Given the description of an element on the screen output the (x, y) to click on. 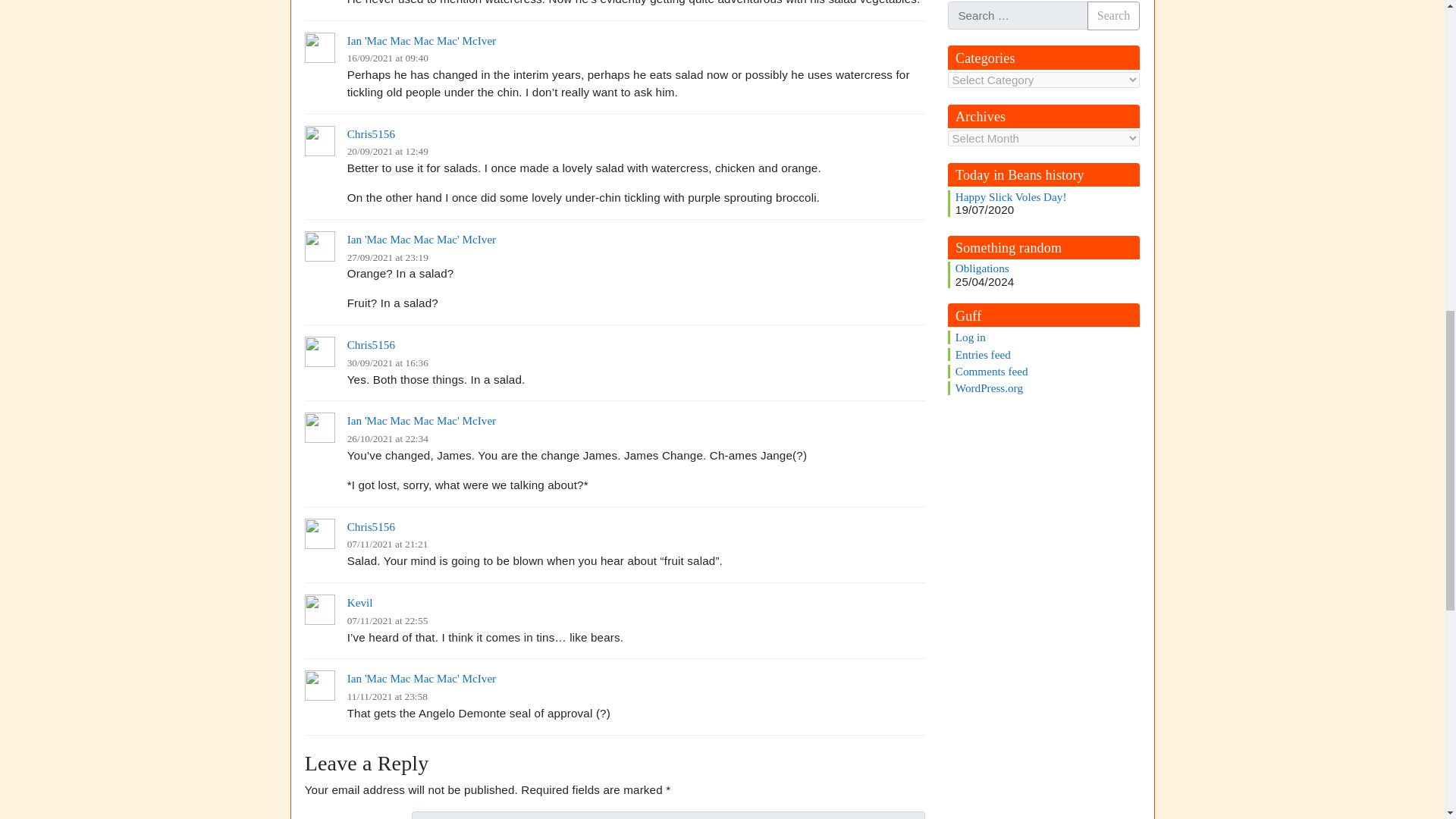
Kevil (359, 602)
Chris5156 (370, 133)
Chris5156 (370, 526)
Ian 'Mac Mac Mac Mac' McIver (421, 238)
Ian 'Mac Mac Mac Mac' McIver (421, 677)
Ian 'Mac Mac Mac Mac' McIver (421, 420)
Chris5156 (370, 344)
Ian 'Mac Mac Mac Mac' McIver (421, 39)
